Given the description of an element on the screen output the (x, y) to click on. 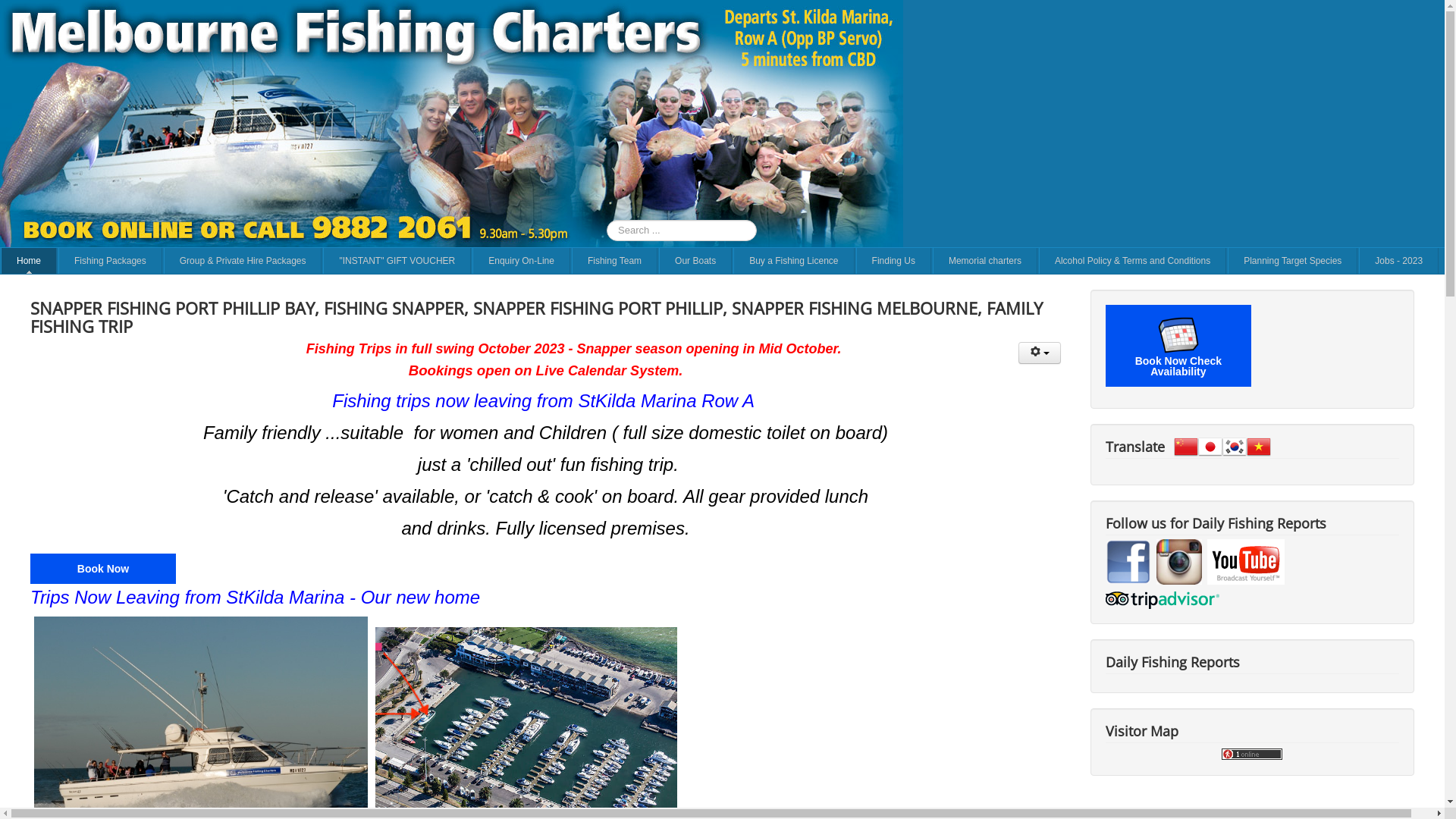
Our Boats Element type: text (694, 260)
Book Now Element type: text (102, 568)
TripAdvisor Element type: hover (1162, 599)
instagram Element type: hover (1178, 560)
Jobs - 2023 Element type: text (1398, 260)
Enquiry On-Line Element type: text (521, 260)
Fishing Packages Element type: text (110, 260)
Home Element type: text (28, 260)
Alcohol Policy & Terms and Conditions Element type: text (1132, 260)
Fishing Team Element type: text (614, 260)
Finding Us Element type: text (893, 260)
Book Now Check Availability Element type: text (1178, 345)
Group & Private Hire Packages Element type: text (242, 260)
Buy a Fishing Licence Element type: text (793, 260)
Planning Target Species Element type: text (1292, 260)
Memorial charters Element type: text (984, 260)
"INSTANT" GIFT VOUCHER Element type: text (396, 260)
